Given the description of an element on the screen output the (x, y) to click on. 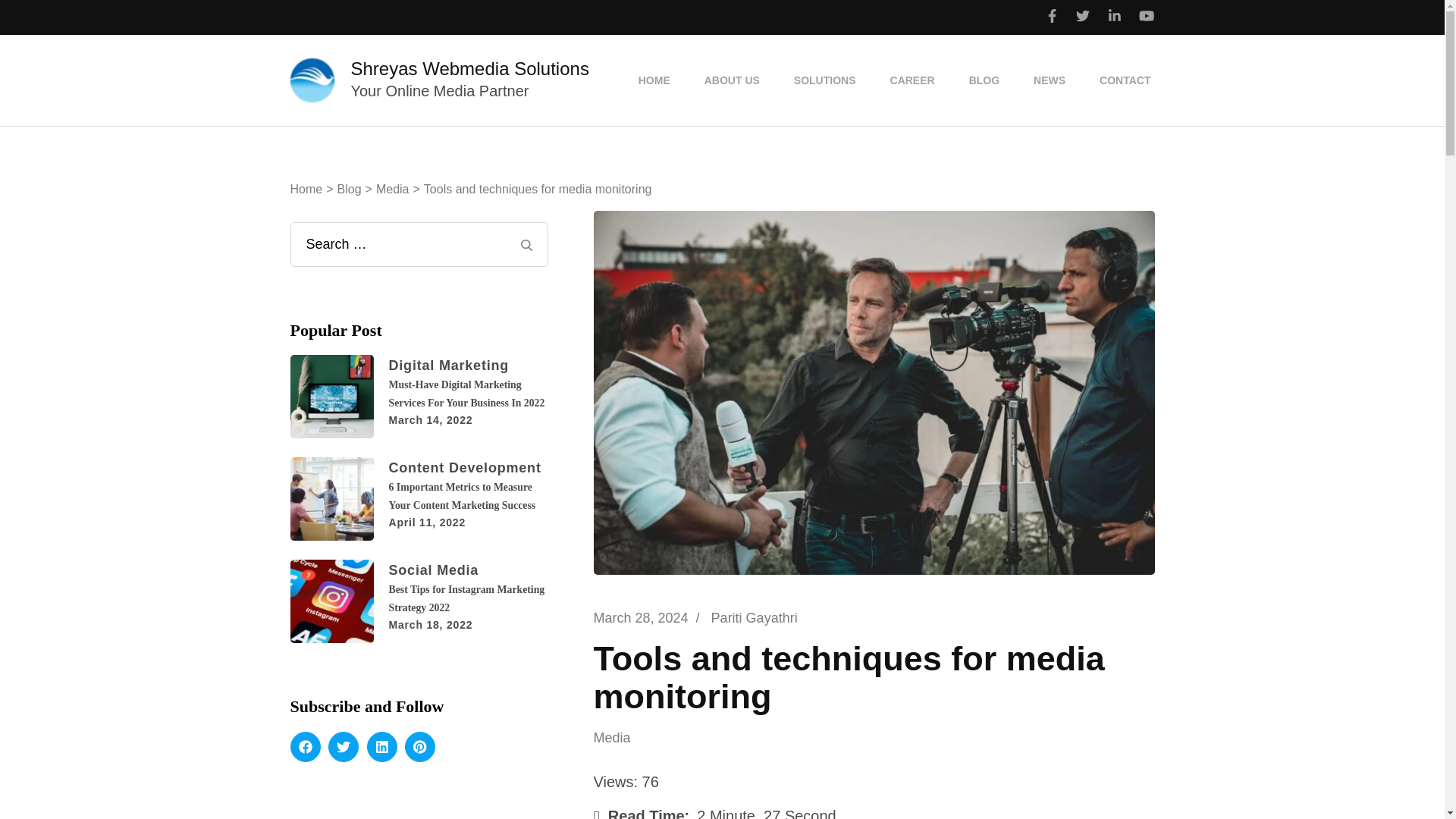
March 28, 2024 (639, 617)
ABOUT US (731, 79)
SOLUTIONS (825, 79)
Media (622, 738)
Home (305, 188)
Blog (349, 188)
NEWS (1048, 79)
pinterest (419, 747)
Shreyas Webmedia Solutions (469, 68)
Search (525, 244)
linkedin (381, 747)
facebook (304, 747)
Search (525, 244)
Pariti Gayathri (754, 617)
twitter (343, 747)
